Given the description of an element on the screen output the (x, y) to click on. 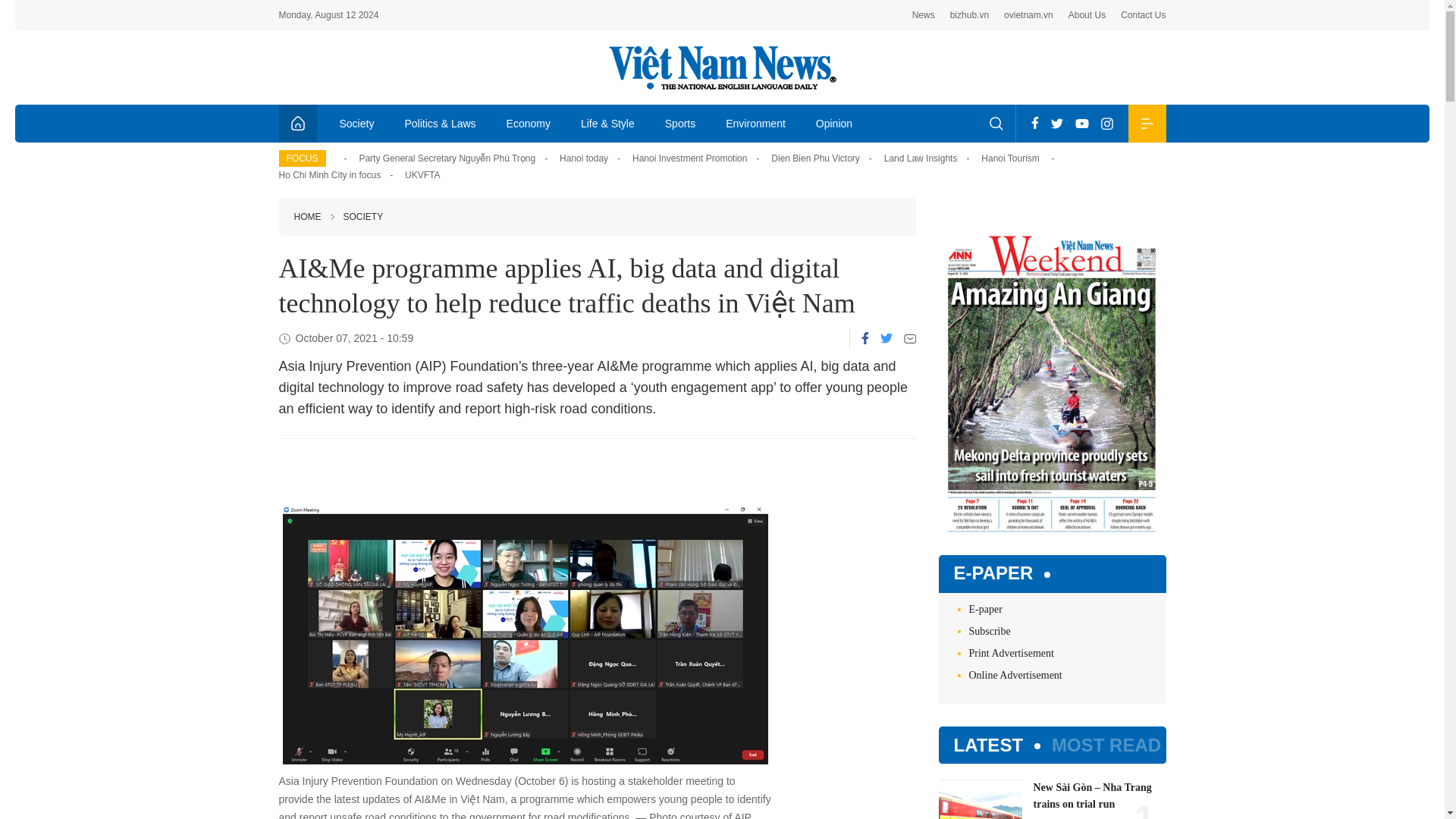
bizhub.vn (969, 15)
News (923, 15)
Facebook (1035, 123)
Society (357, 123)
Opinion (833, 123)
Youtube (1081, 122)
About Us (1086, 15)
Economy (529, 123)
ovietnam.vn (1028, 15)
Email (909, 338)
